Given the description of an element on the screen output the (x, y) to click on. 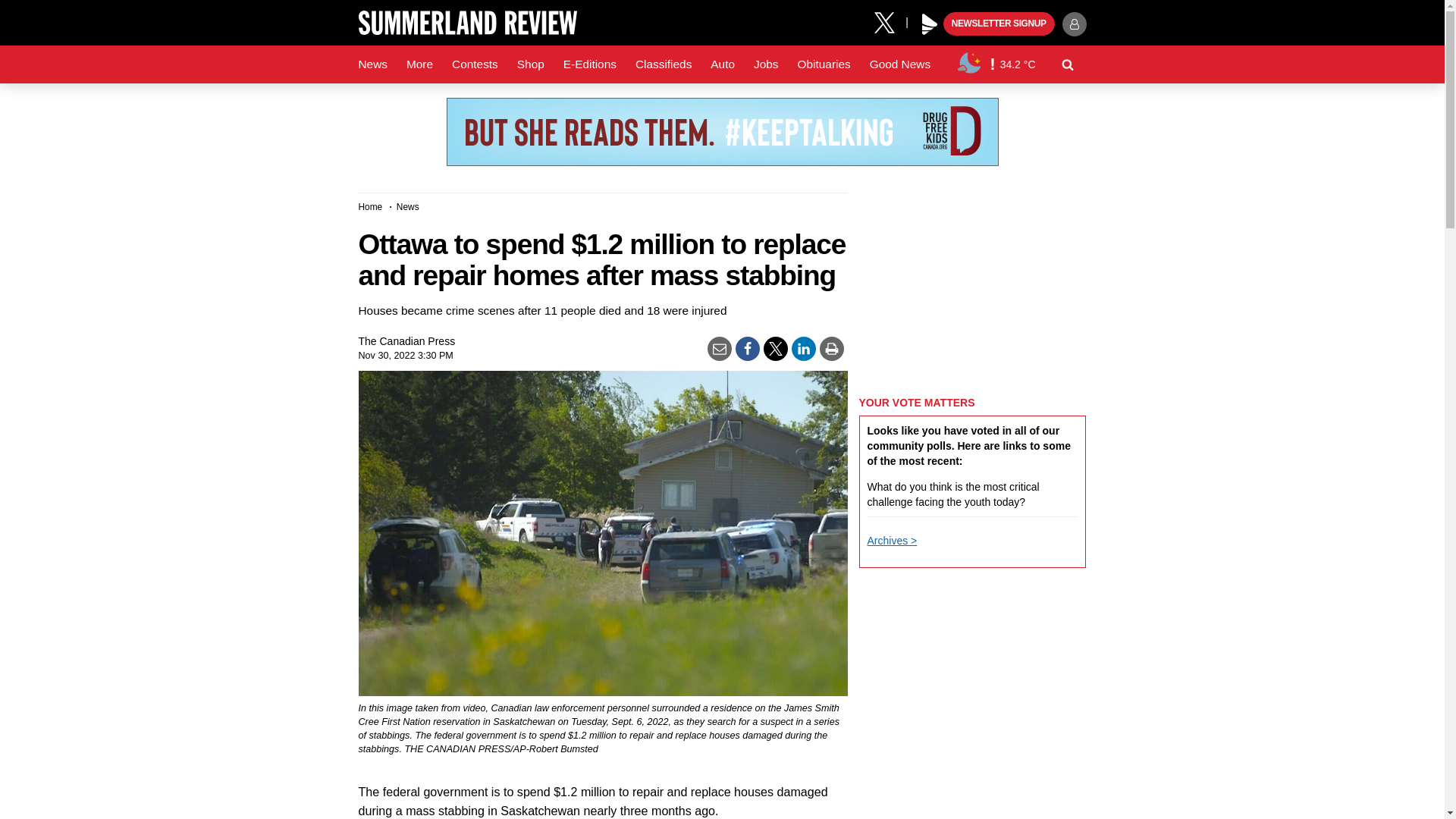
X (889, 21)
Black Press Media (929, 24)
NEWSLETTER SIGNUP (998, 24)
News (372, 64)
Play (929, 24)
3rd party ad content (721, 131)
